Given the description of an element on the screen output the (x, y) to click on. 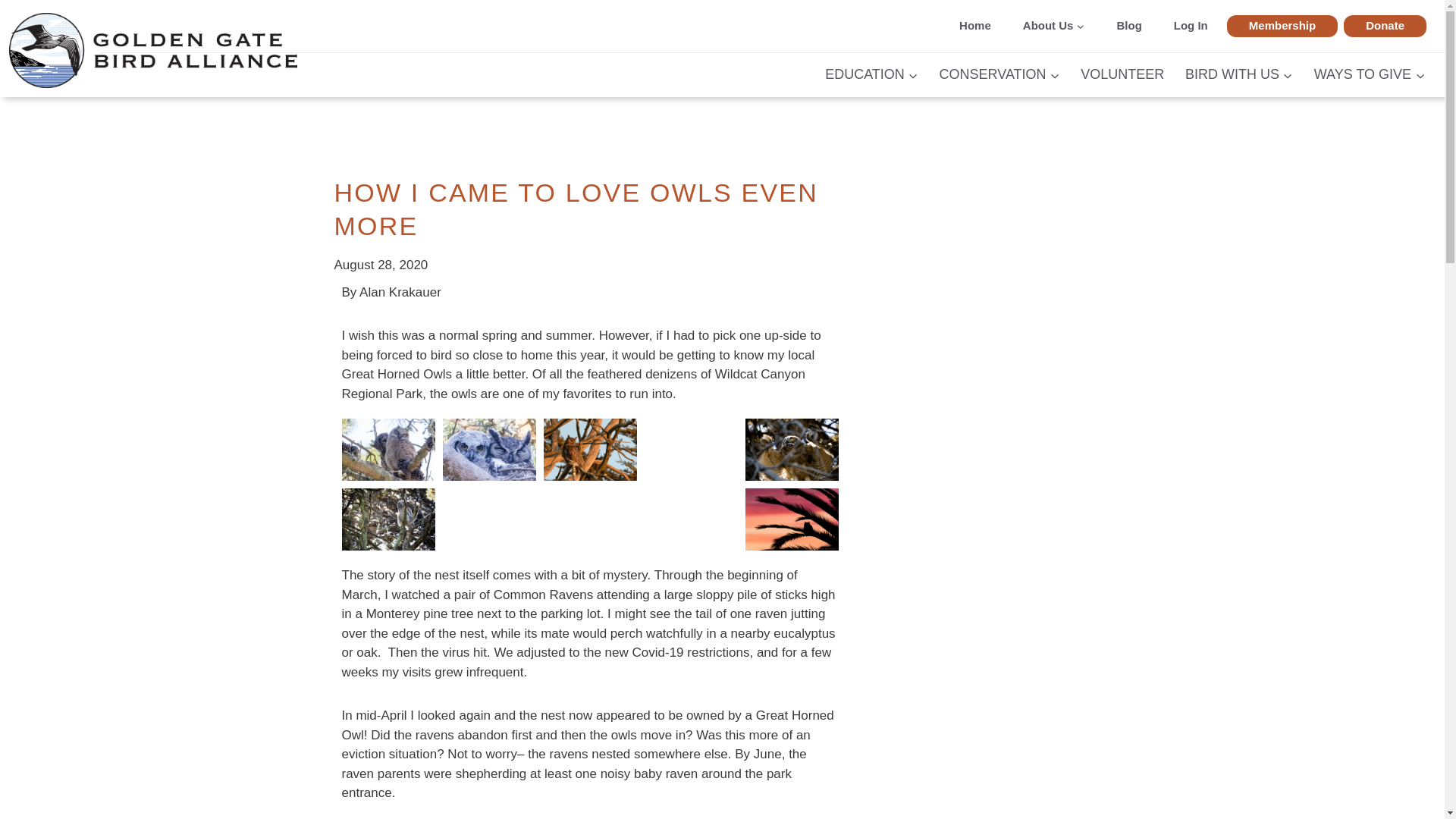
EDUCATION (870, 74)
Membership (1282, 26)
Home (975, 26)
Blog (1128, 26)
CONSERVATION (999, 74)
Donate (1385, 26)
About Us (1053, 26)
VOLUNTEER (1122, 74)
BIRD WITH US (1238, 74)
Log In (1190, 26)
